Given the description of an element on the screen output the (x, y) to click on. 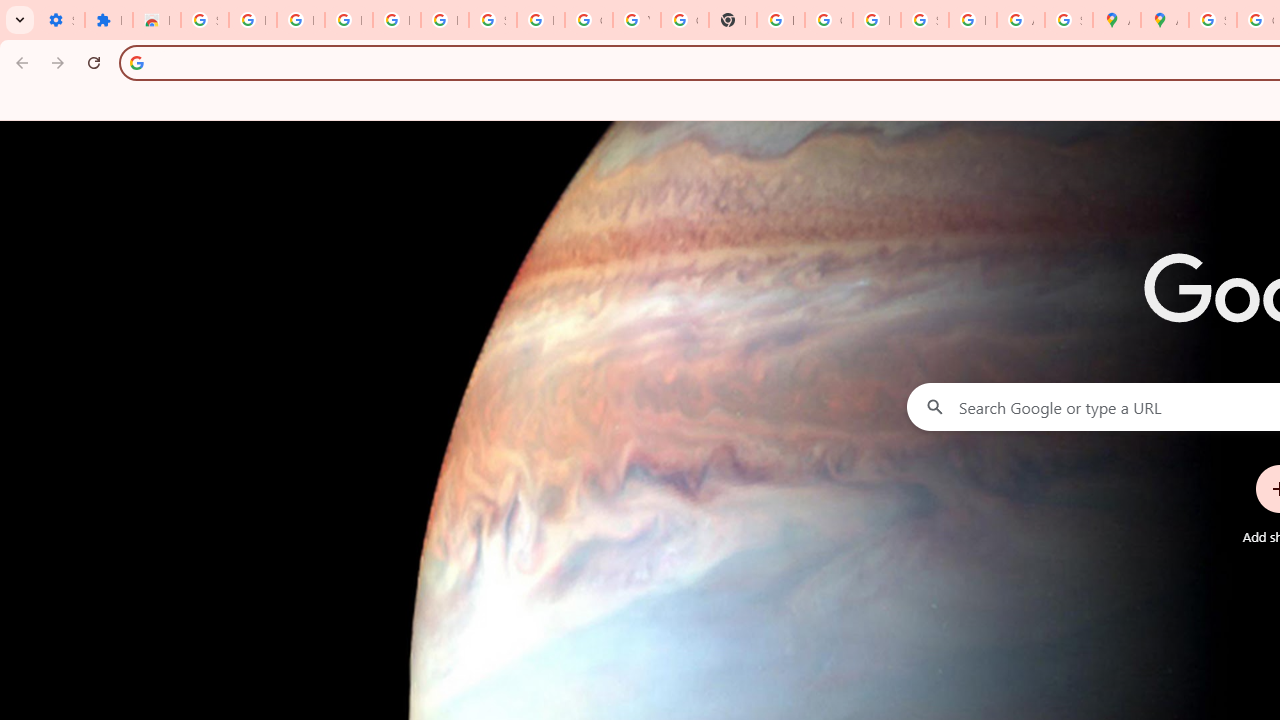
Learn how to find your photos - Google Photos Help (396, 20)
Reviews: Helix Fruit Jump Arcade Game (156, 20)
https://scholar.google.com/ (780, 20)
